Given the description of an element on the screen output the (x, y) to click on. 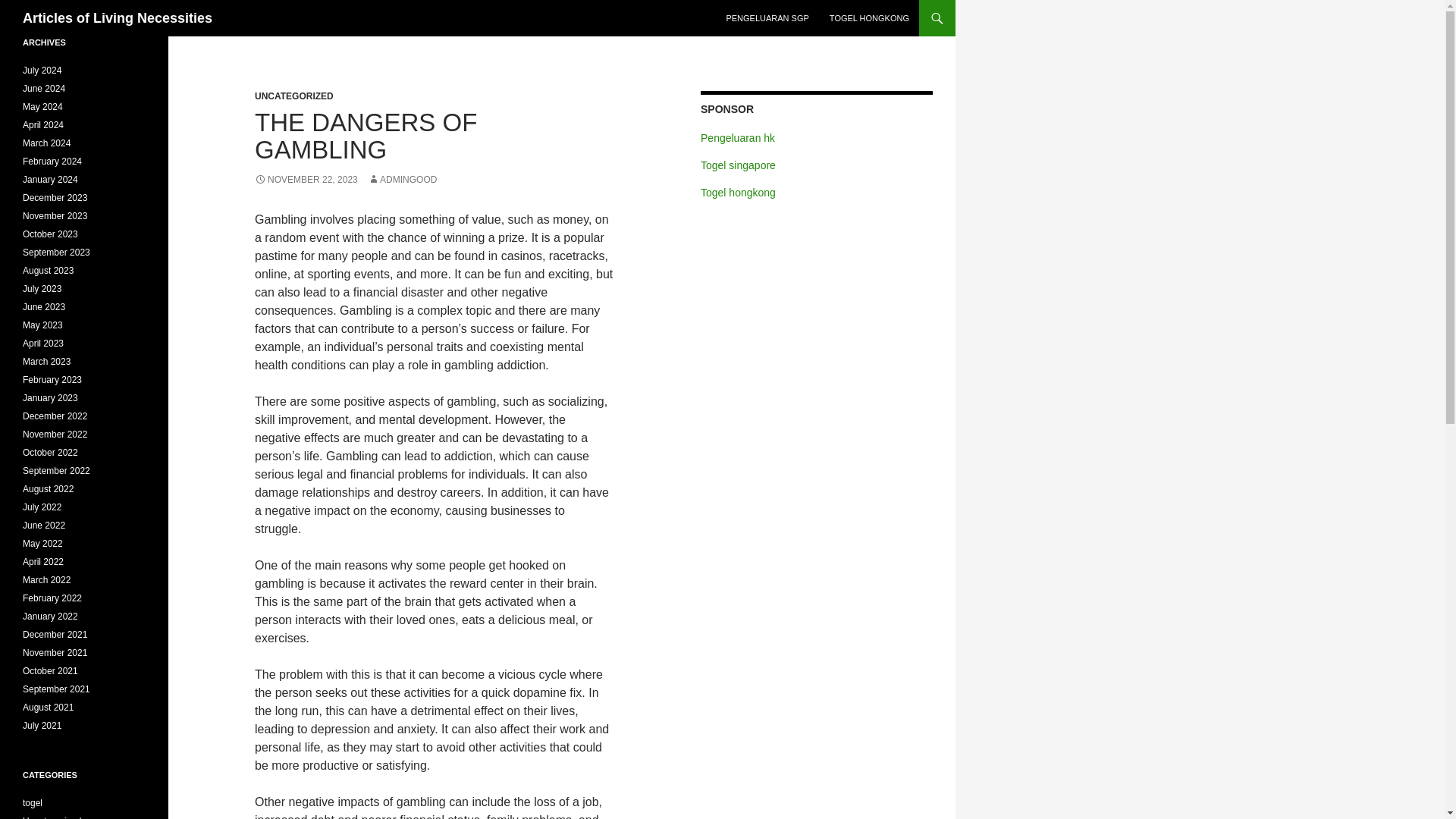
June 2023 (44, 307)
May 2024 (42, 106)
February 2023 (52, 379)
July 2023 (42, 288)
March 2023 (46, 361)
July 2022 (42, 507)
November 2022 (55, 434)
December 2023 (55, 197)
Pengeluaran hk (737, 137)
February 2024 (52, 161)
NOVEMBER 22, 2023 (306, 179)
ADMINGOOD (402, 179)
September 2022 (56, 470)
March 2024 (46, 143)
UNCATEGORIZED (293, 95)
